Given the description of an element on the screen output the (x, y) to click on. 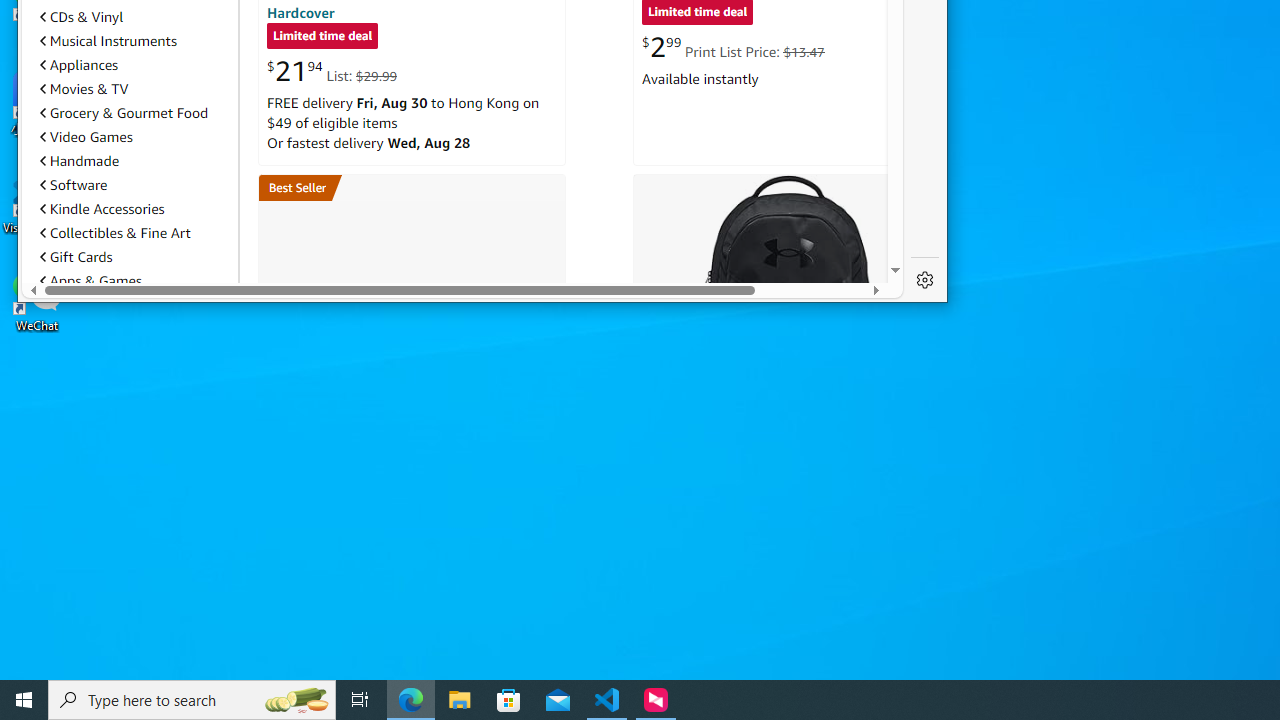
File Explorer (460, 699)
Video Games (86, 137)
Movies & TV (84, 88)
CDs & Vinyl (135, 17)
Musical Instruments (135, 40)
Best Seller in Internal Solid State Drives (411, 187)
$21.94 List: $29.99 (332, 71)
Collectibles & Fine Art (114, 232)
Kindle Accessories (135, 208)
Appliances (79, 65)
Apps & Games (90, 281)
Handmade (79, 160)
